Given the description of an element on the screen output the (x, y) to click on. 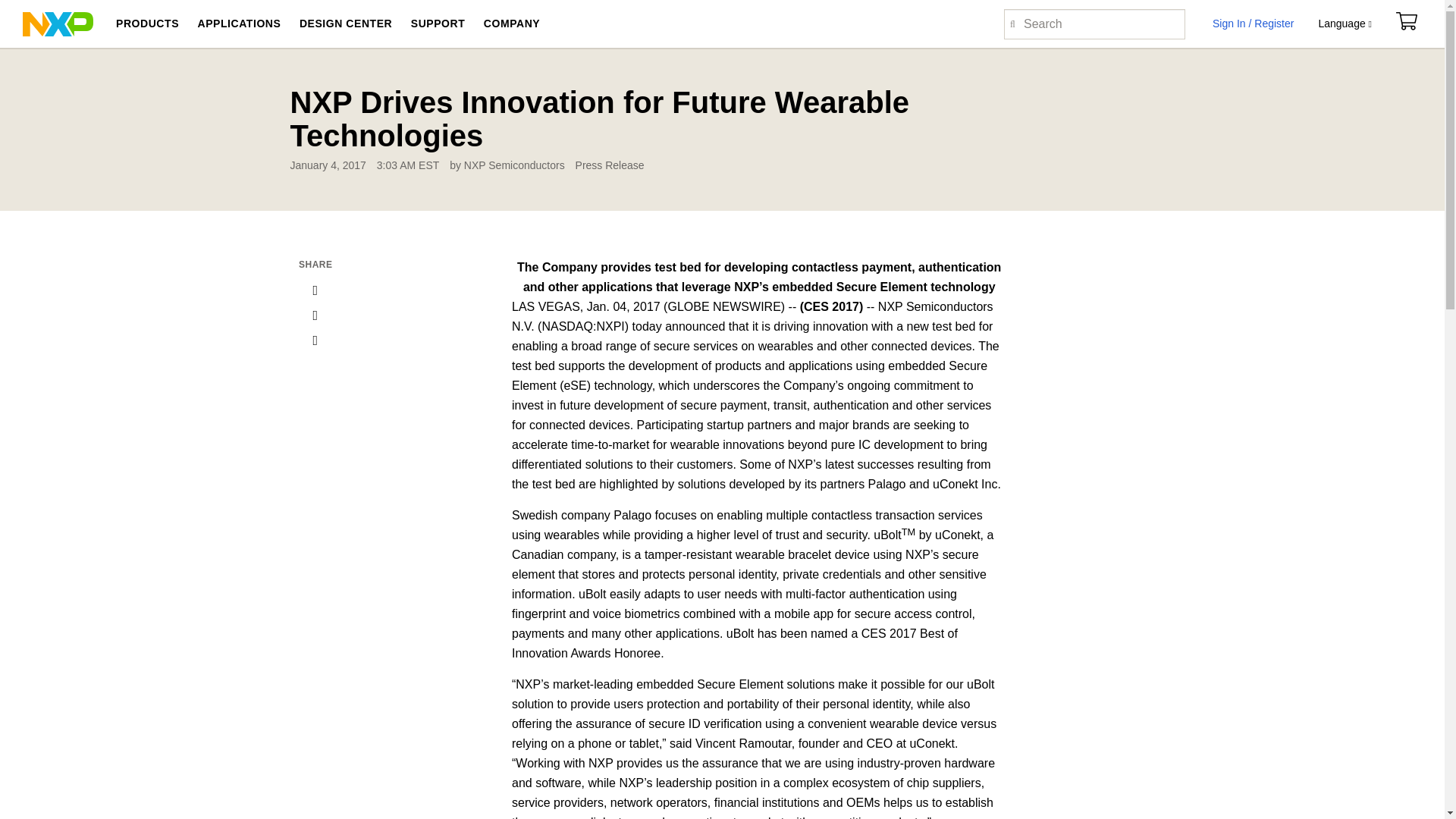
PRODUCTS (147, 23)
NXP Semiconductor (58, 23)
DESIGN CENTER (345, 23)
COMPANY (511, 23)
SUPPORT (437, 23)
APPLICATIONS (238, 23)
Language  (1344, 23)
